Given the description of an element on the screen output the (x, y) to click on. 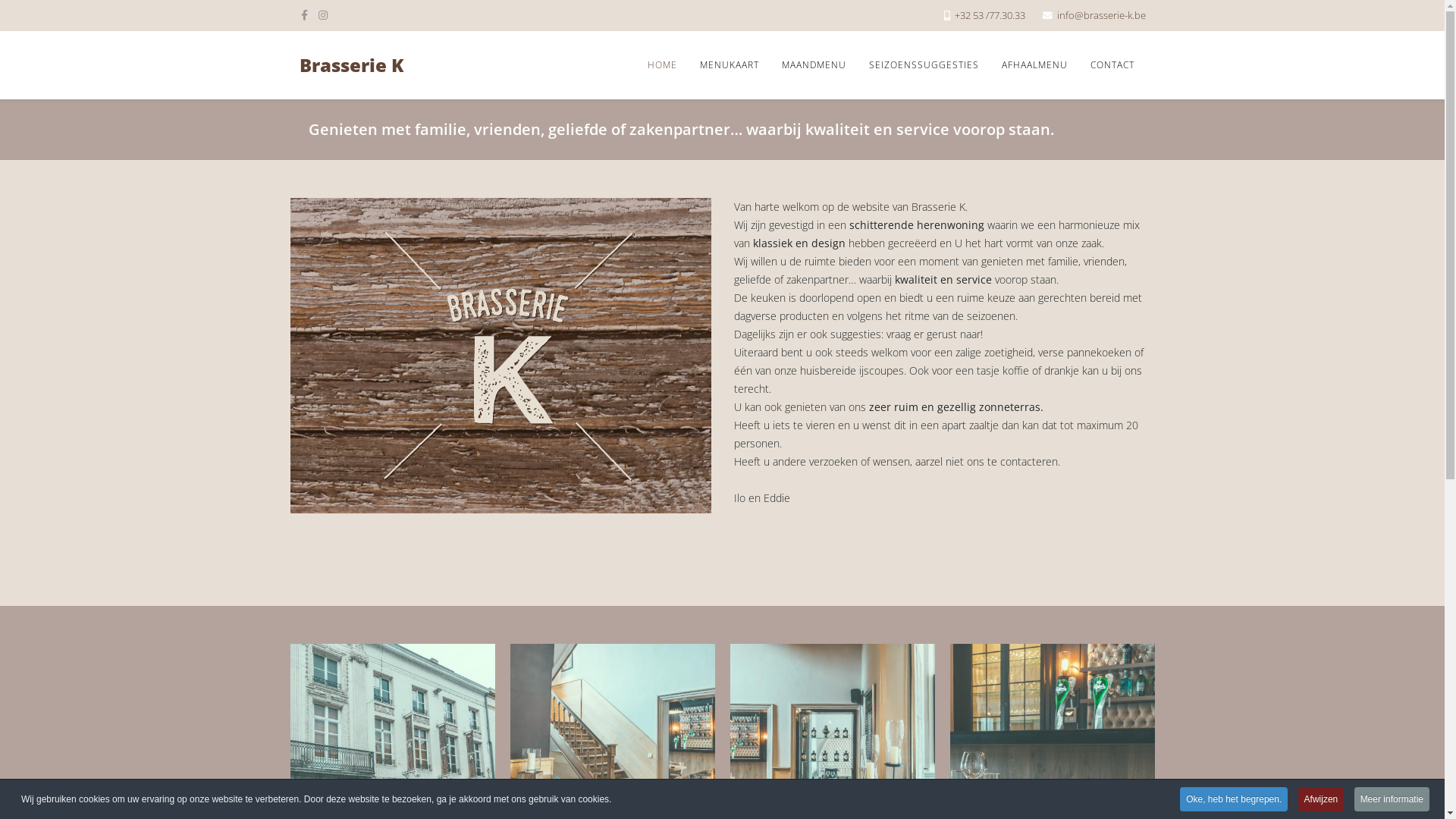
MENUKAART Element type: text (729, 65)
AFHAALMENU Element type: text (1034, 65)
MAANDMENU Element type: text (813, 65)
Meer informatie Element type: text (1391, 799)
SEIZOENSSUGGESTIES Element type: text (922, 65)
Oke, heb het begrepen. Element type: text (1233, 799)
CONTACT Element type: text (1111, 65)
info@brasserie-k.be Element type: text (1101, 15)
HOME Element type: text (661, 65)
Afwijzen Element type: text (1321, 799)
Brasserie K Element type: text (350, 65)
+32 53 /77.30.33 Element type: text (988, 15)
